Given the description of an element on the screen output the (x, y) to click on. 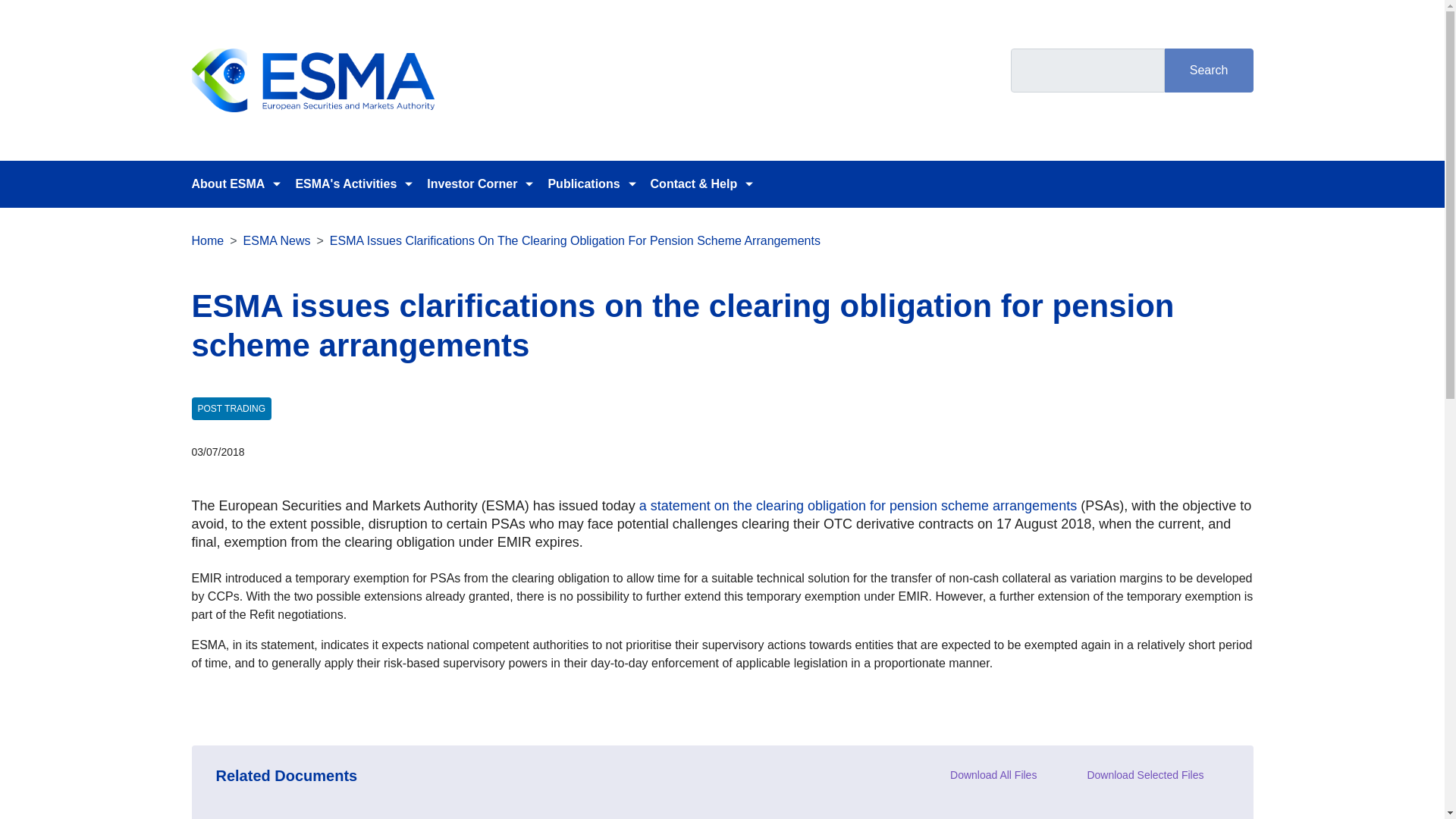
ESMA's Activities (345, 183)
Search (1208, 70)
Search (1208, 70)
About ESMA (227, 183)
Enter the terms you wish to search for. (1087, 70)
